Given the description of an element on the screen output the (x, y) to click on. 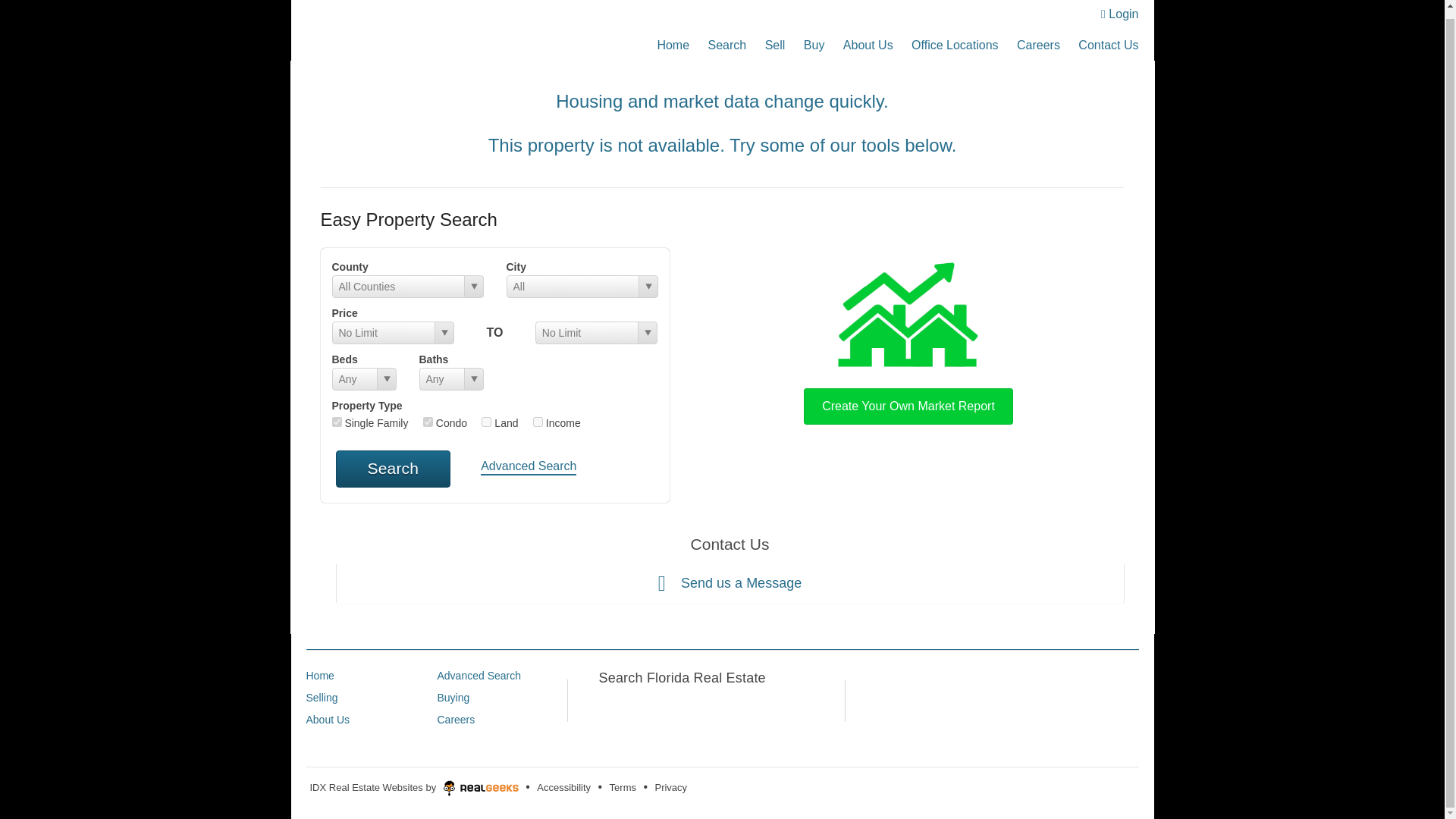
Privacy (670, 787)
Search (726, 37)
Search (391, 468)
con (427, 421)
Office Locations (954, 37)
About Us (868, 37)
Send us a Message (729, 583)
Sell (775, 37)
Selling (321, 697)
Advanced Search (478, 675)
